Given the description of an element on the screen output the (x, y) to click on. 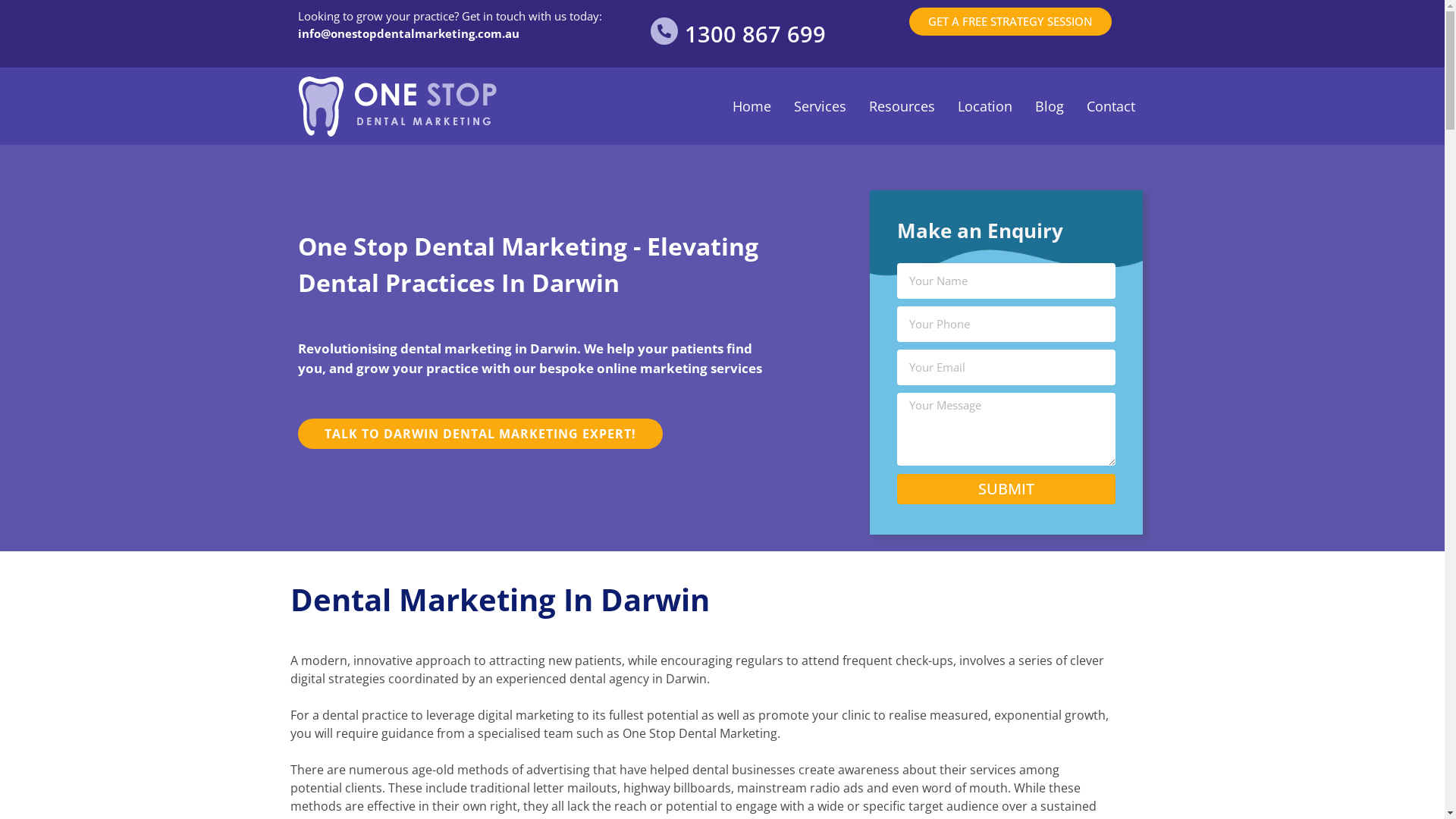
Services Element type: text (819, 105)
info@onestopdentalmarketing.com.au Element type: text (407, 32)
Location Element type: text (984, 105)
1300 867 699 Element type: text (754, 33)
Home Element type: text (751, 105)
SUBMIT Element type: text (1006, 488)
Blog Element type: text (1049, 105)
Contact Element type: text (1110, 105)
GET A FREE STRATEGY SESSION Element type: text (1010, 21)
TALK TO DARWIN DENTAL MARKETING EXPERT! Element type: text (479, 433)
Resources Element type: text (901, 105)
